Given the description of an element on the screen output the (x, y) to click on. 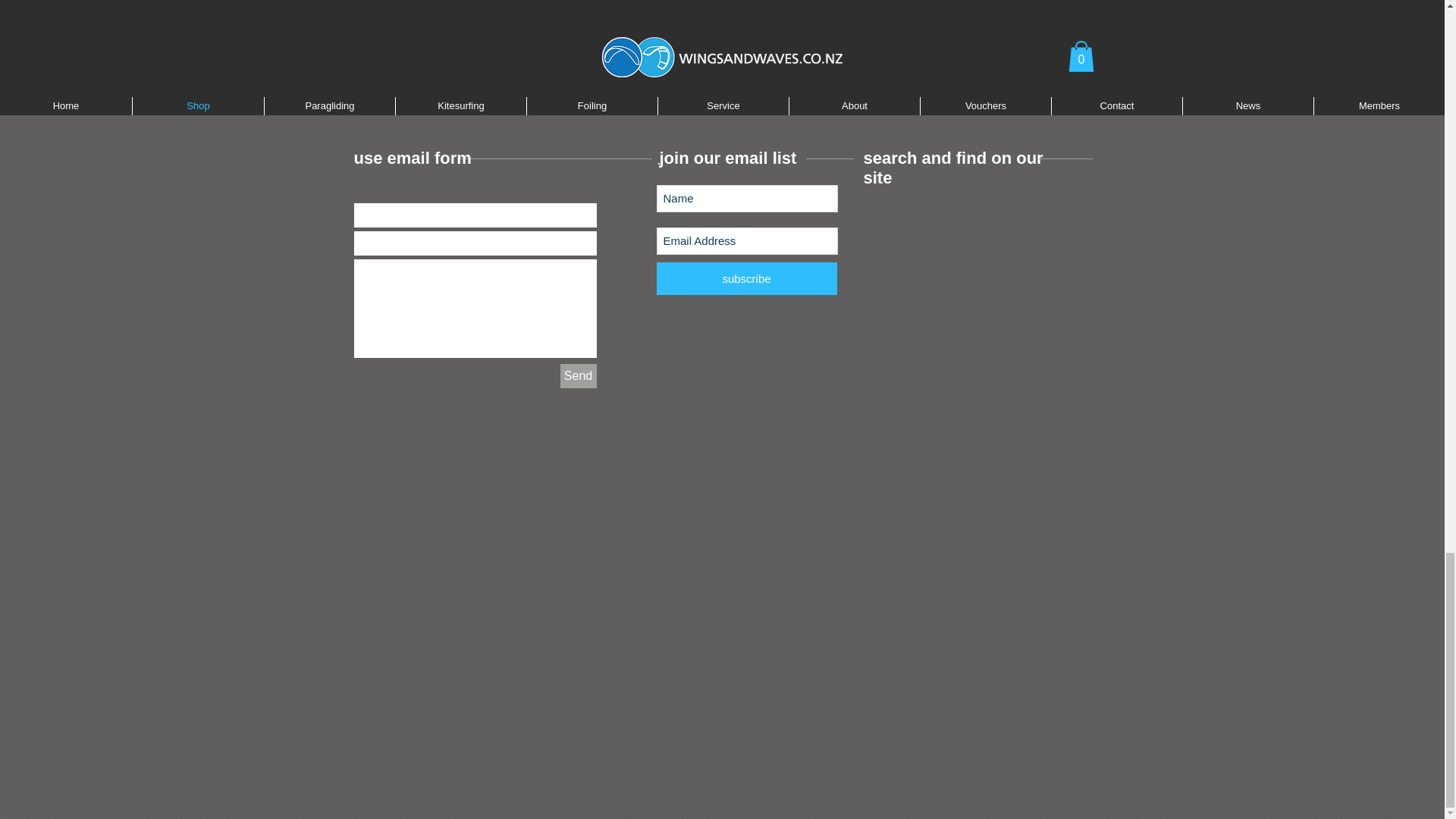
Site Search (938, 214)
